Given the description of an element on the screen output the (x, y) to click on. 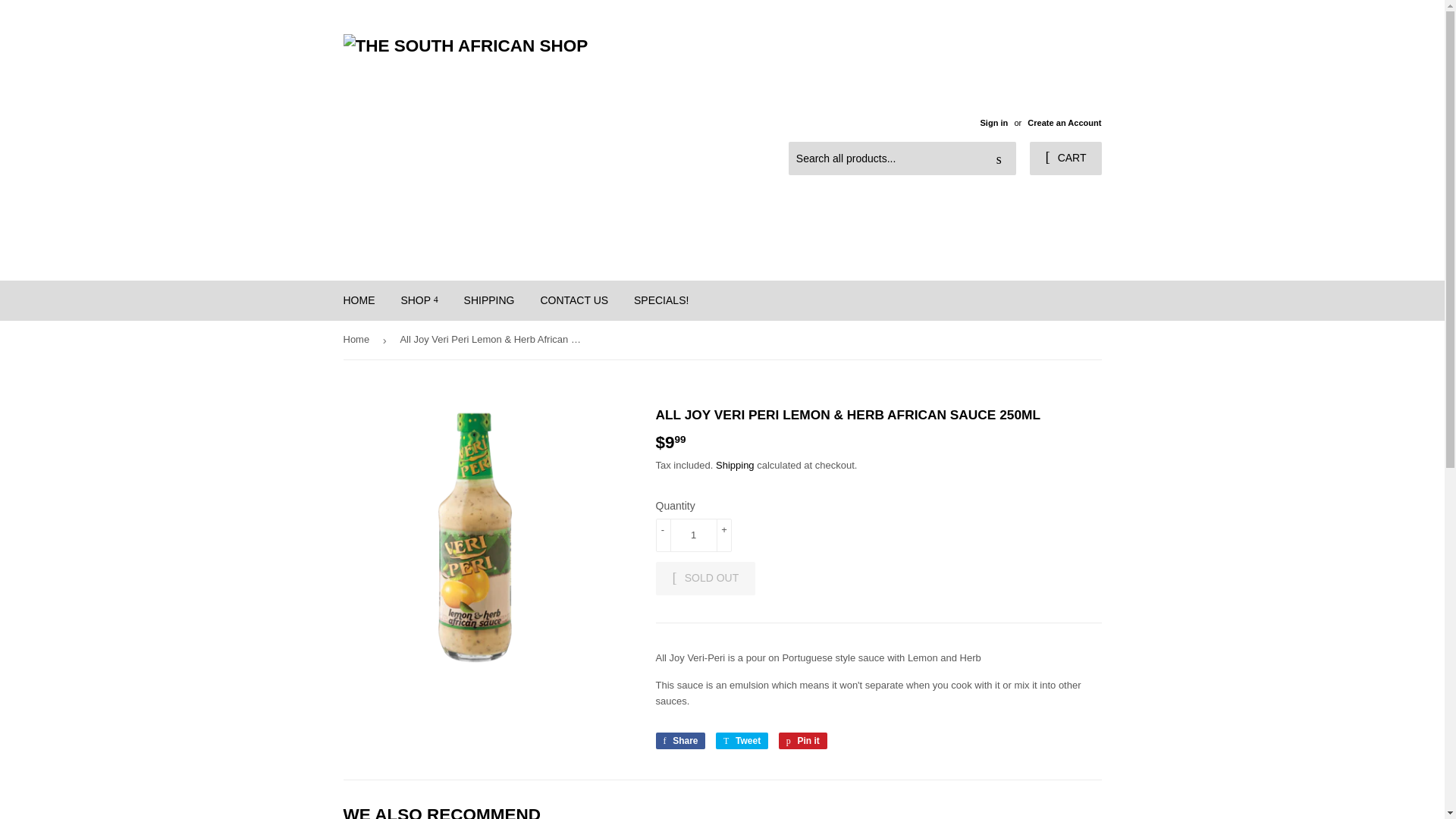
1 (692, 535)
Search (998, 159)
Pin on Pinterest (802, 740)
Share on Facebook (679, 740)
CART (1064, 158)
Tweet on Twitter (742, 740)
Create an Account (1063, 122)
Sign in (993, 122)
